Given the description of an element on the screen output the (x, y) to click on. 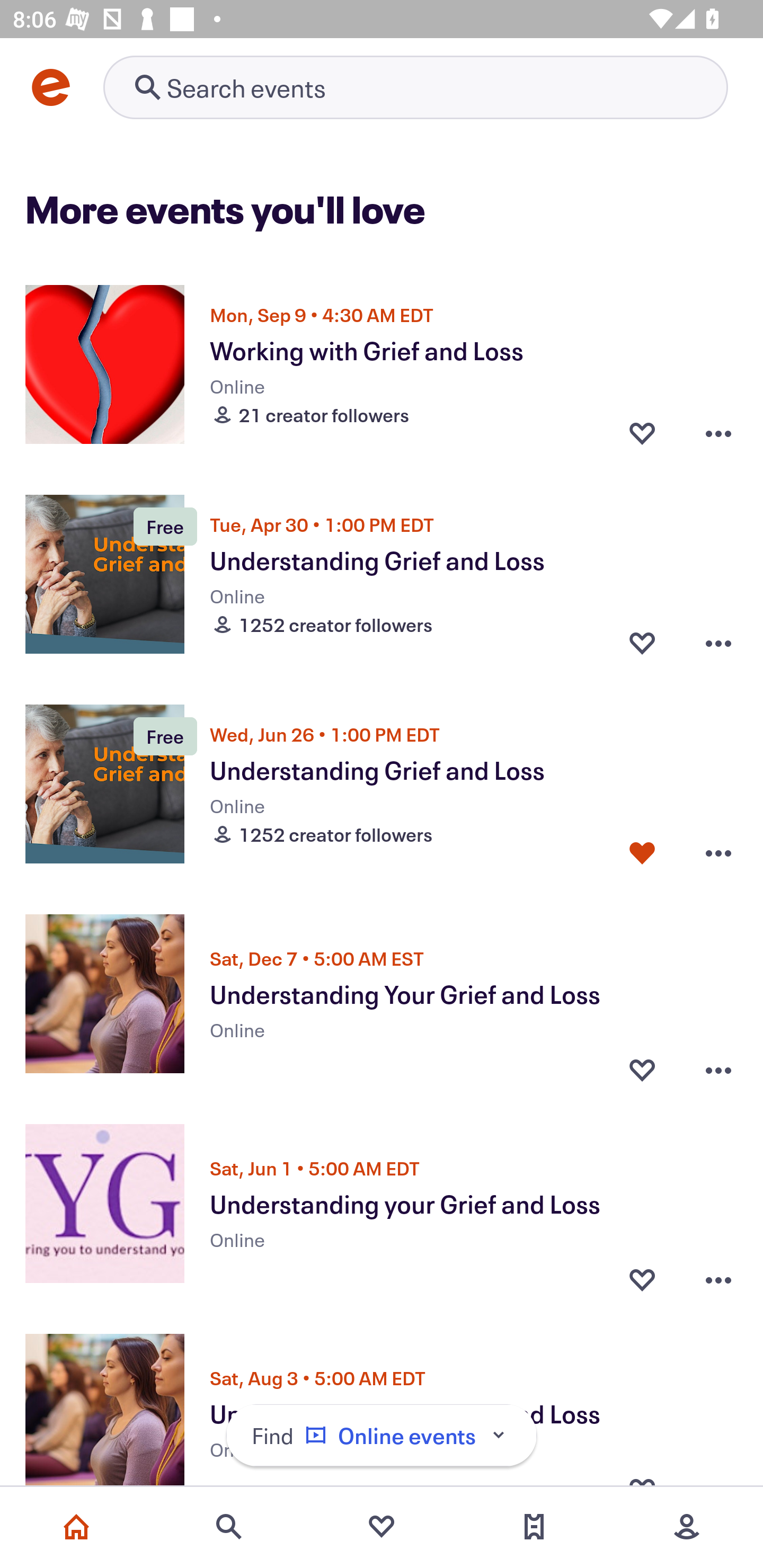
Retry's image Search events (415, 86)
Favorite button (642, 431)
Overflow menu button (718, 431)
Favorite button (642, 641)
Overflow menu button (718, 641)
Favorite button (642, 852)
Overflow menu button (718, 852)
Favorite button (642, 1065)
Overflow menu button (718, 1065)
Favorite button (642, 1274)
Overflow menu button (718, 1274)
Find Online events (381, 1435)
Home (76, 1526)
Search events (228, 1526)
Favorites (381, 1526)
Tickets (533, 1526)
More (686, 1526)
